Given the description of an element on the screen output the (x, y) to click on. 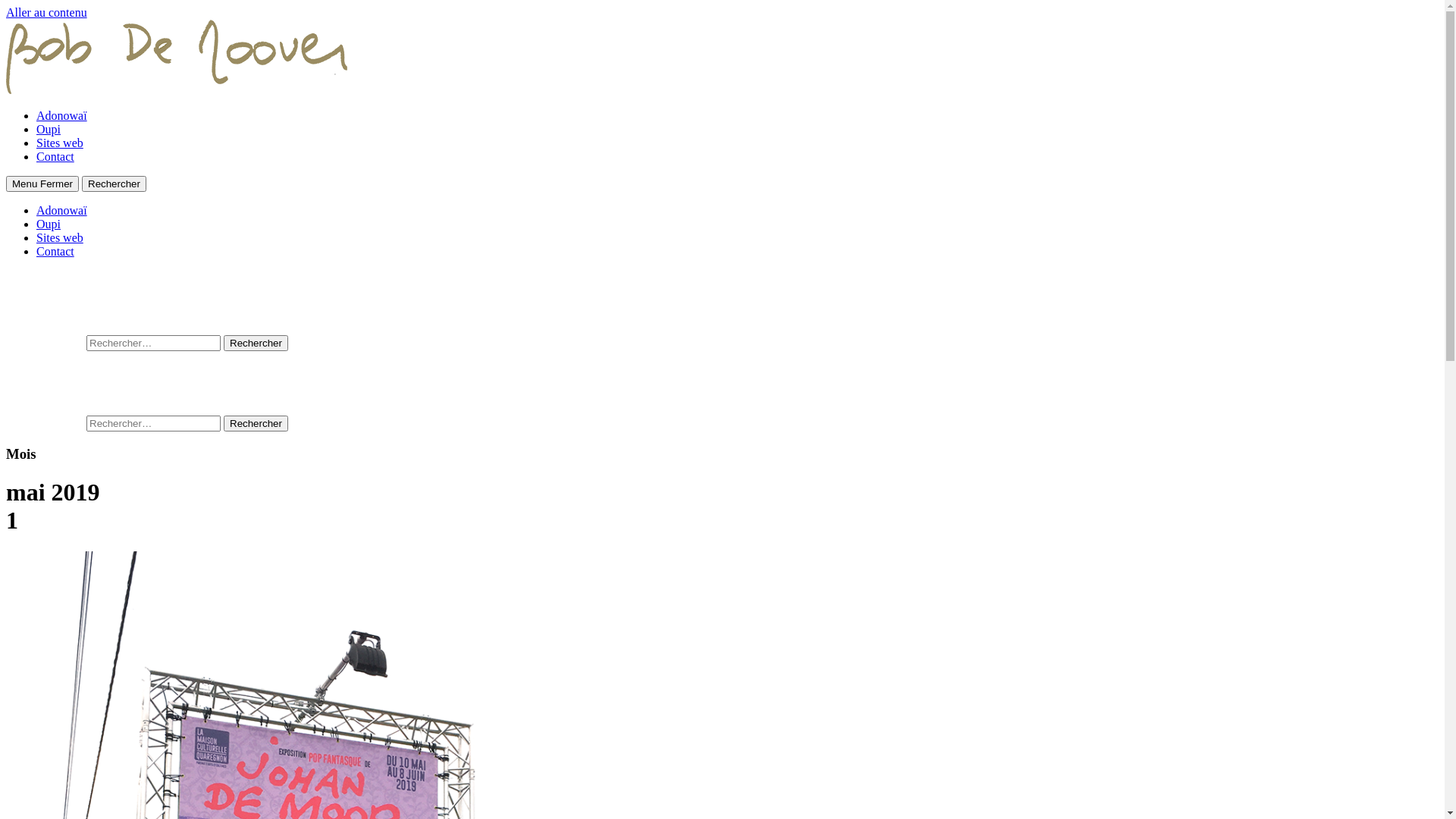
Rechercher Element type: text (255, 343)
Contact Element type: text (55, 250)
Oupi Element type: text (48, 128)
Oupi Element type: text (48, 223)
Sites web Element type: text (59, 237)
Sites web Element type: text (59, 142)
Rechercher Element type: text (113, 183)
Aller au contenu Element type: text (46, 12)
Contact Element type: text (55, 156)
Rechercher Element type: text (255, 423)
Bob De Roover Element type: hover (176, 89)
Menu Fermer Element type: text (42, 183)
